Given the description of an element on the screen output the (x, y) to click on. 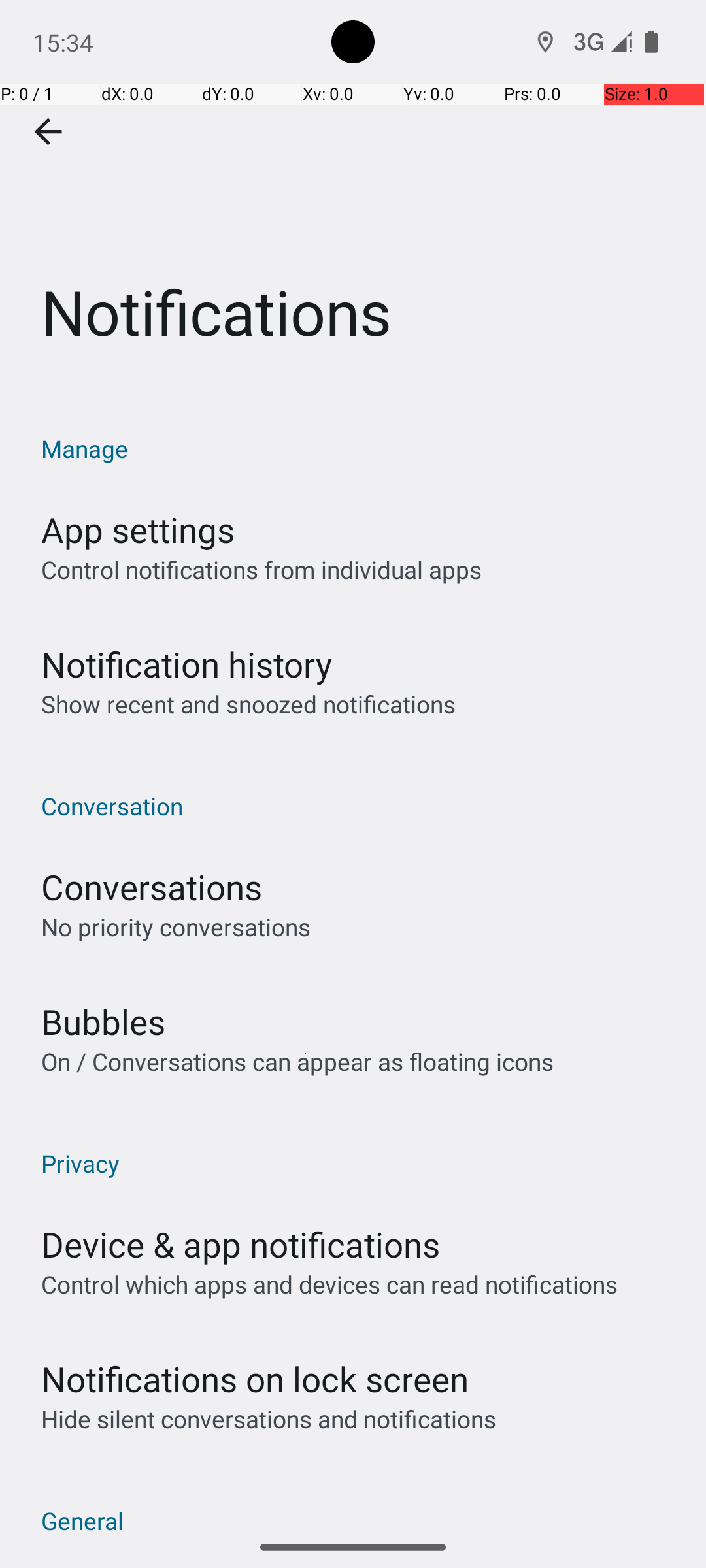
Notifications Element type: android.widget.FrameLayout (353, 195)
Manage Element type: android.widget.TextView (359, 448)
App settings Element type: android.widget.TextView (137, 529)
Control notifications from individual apps Element type: android.widget.TextView (261, 569)
Notification history Element type: android.widget.TextView (186, 663)
Show recent and snoozed notifications Element type: android.widget.TextView (248, 703)
Conversation Element type: android.widget.TextView (359, 805)
Conversations Element type: android.widget.TextView (151, 886)
No priority conversations Element type: android.widget.TextView (175, 926)
Bubbles Element type: android.widget.TextView (103, 1021)
On / Conversations can appear as floating icons Element type: android.widget.TextView (297, 1061)
Privacy Element type: android.widget.TextView (359, 1162)
Device & app notifications Element type: android.widget.TextView (240, 1244)
Control which apps and devices can read notifications Element type: android.widget.TextView (329, 1283)
Notifications on lock screen Element type: android.widget.TextView (254, 1378)
Hide silent conversations and notifications Element type: android.widget.TextView (268, 1418)
